Given the description of an element on the screen output the (x, y) to click on. 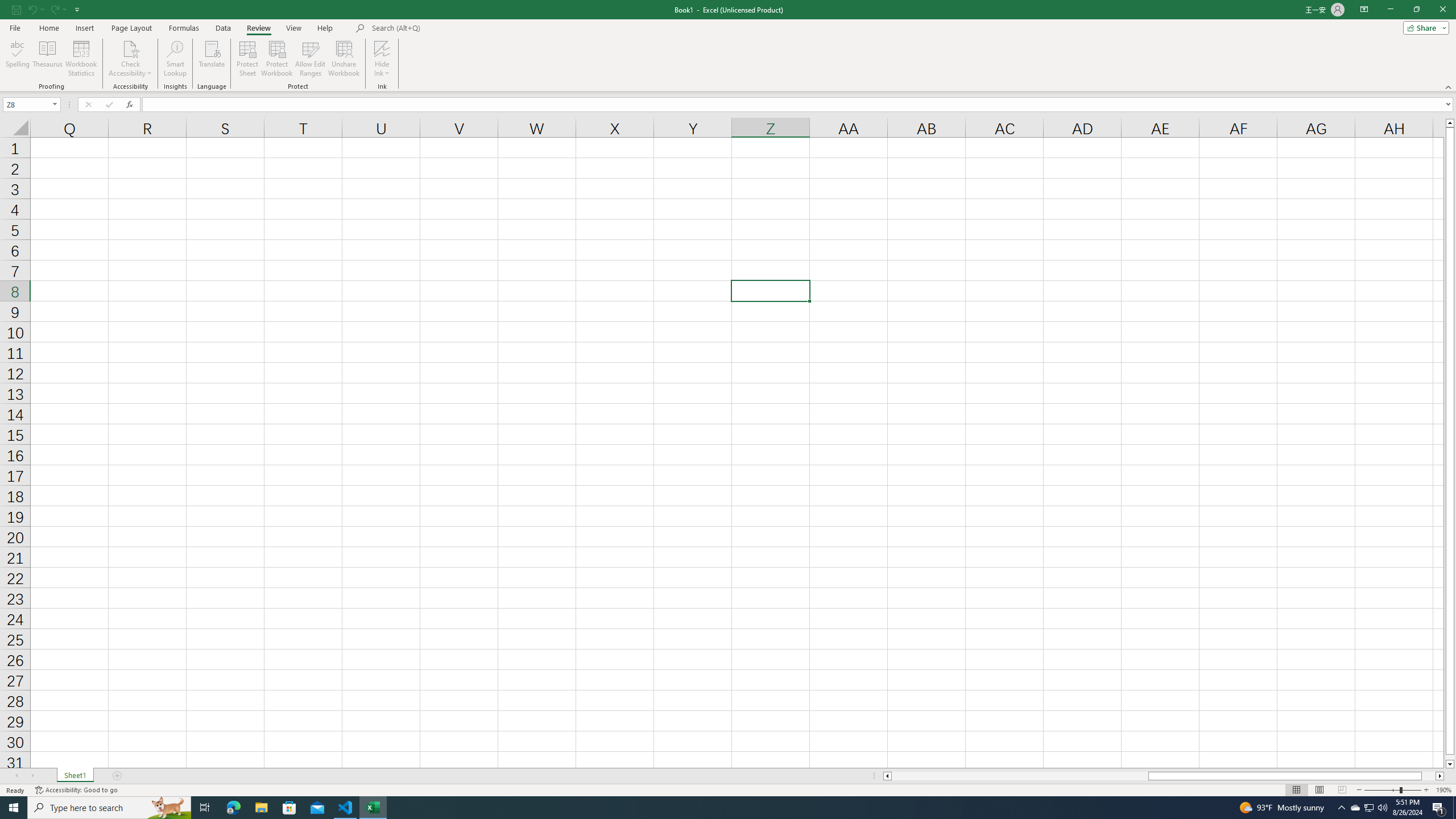
Allow Edit Ranges (310, 58)
Protect Sheet... (247, 58)
Translate (211, 58)
Protect Workbook... (277, 58)
Thesaurus... (47, 58)
